Given the description of an element on the screen output the (x, y) to click on. 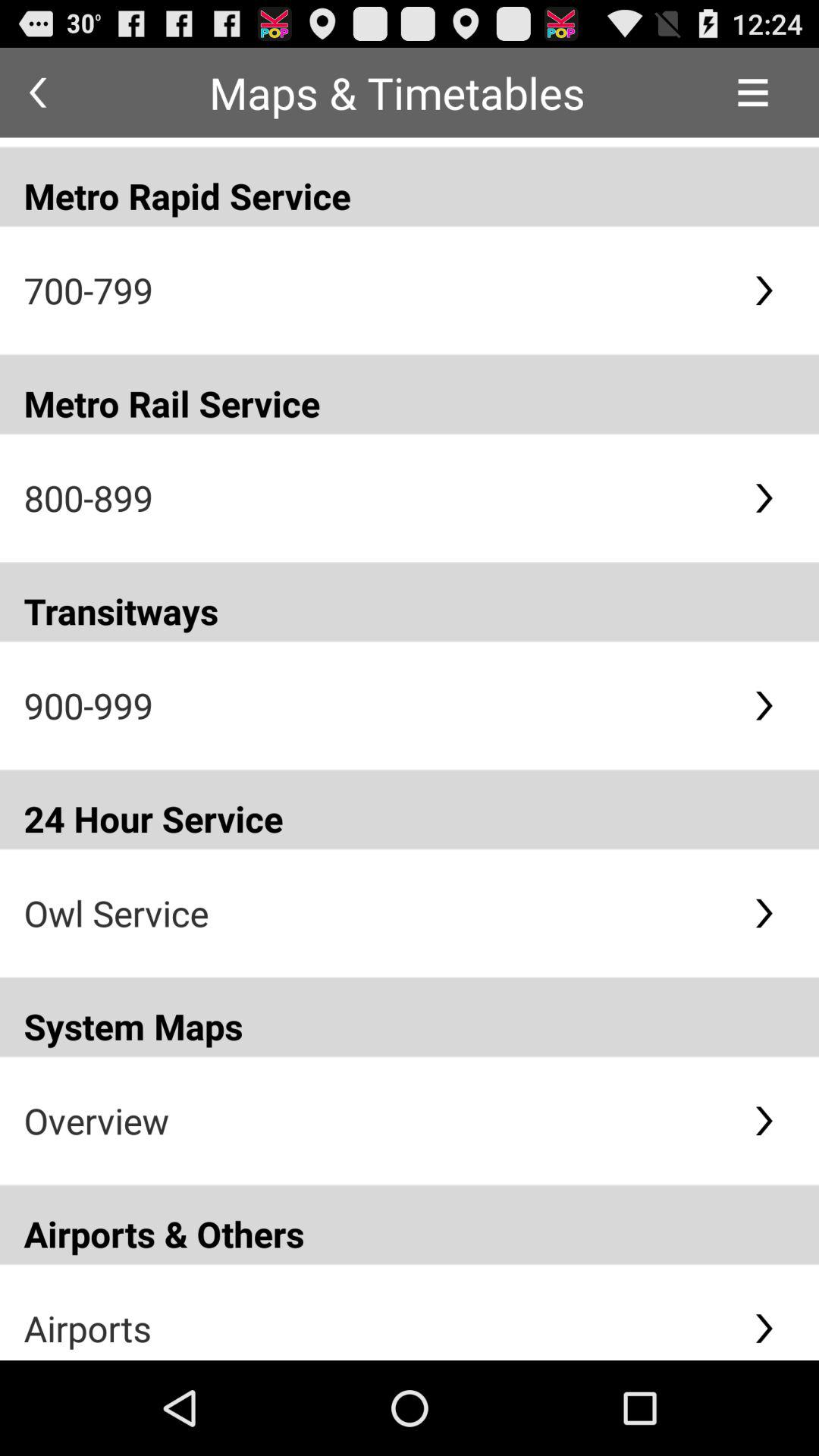
click the icon below transitways app (376, 705)
